Given the description of an element on the screen output the (x, y) to click on. 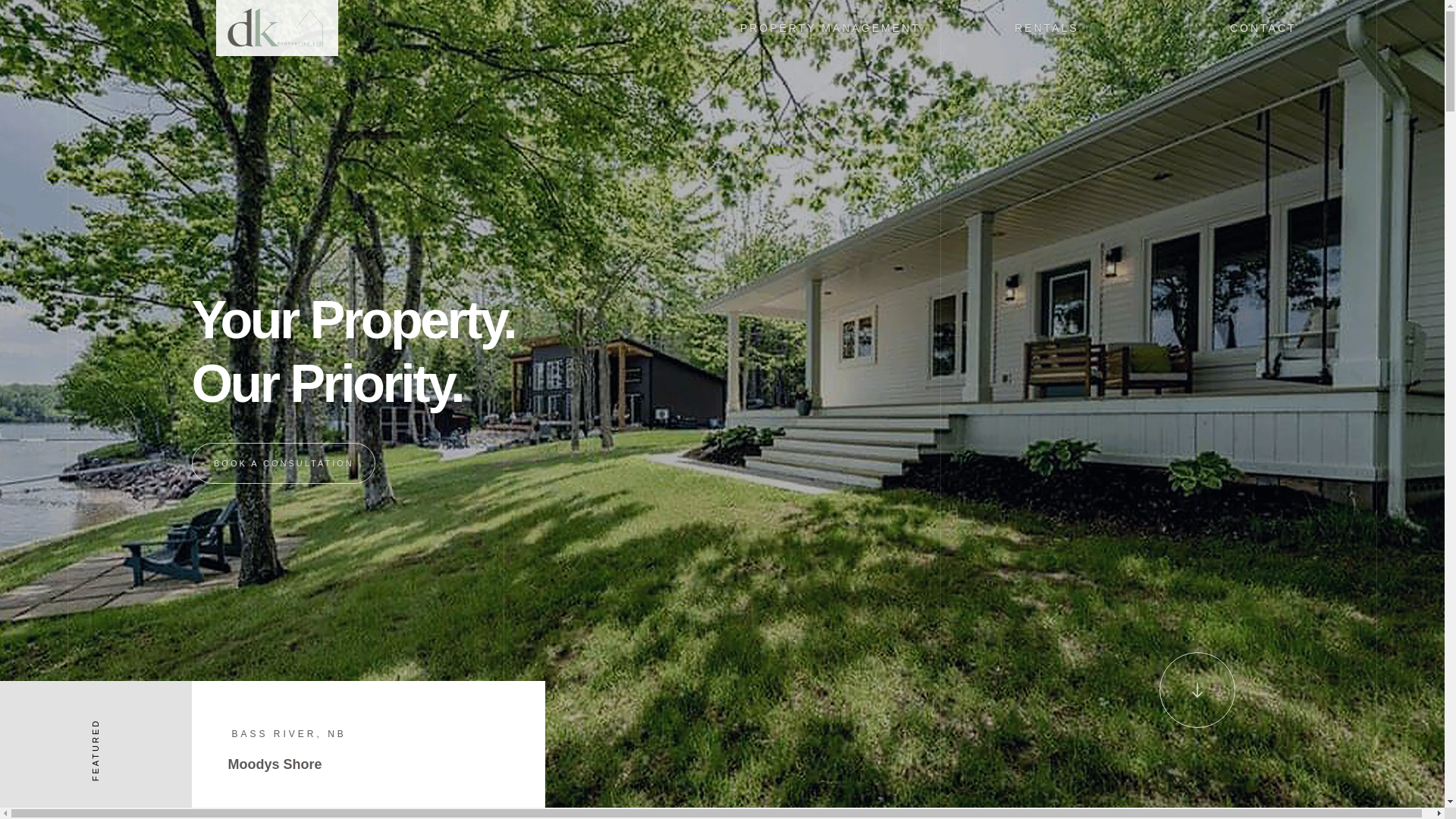
RENTALS (1046, 28)
PROPERTY MANAGEMENT (367, 749)
BOOK A CONSULTATION (829, 28)
CONTACT (282, 463)
